Given the description of an element on the screen output the (x, y) to click on. 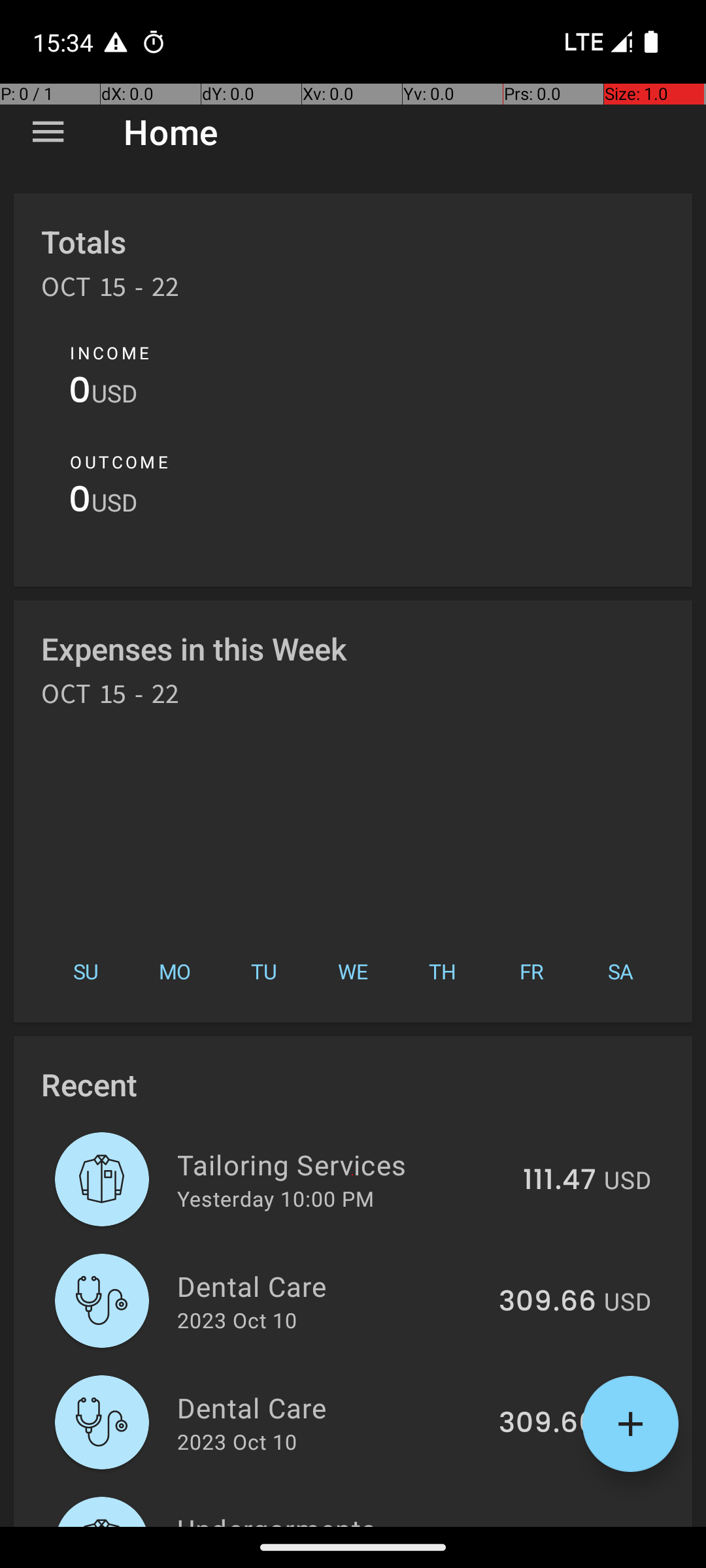
Tailoring Services Element type: android.widget.TextView (342, 1164)
Yesterday 10:00 PM Element type: android.widget.TextView (275, 1198)
111.47 Element type: android.widget.TextView (559, 1180)
Dental Care Element type: android.widget.TextView (330, 1285)
2023 Oct 10 Element type: android.widget.TextView (236, 1320)
309.66 Element type: android.widget.TextView (547, 1301)
Undergarments Element type: android.widget.TextView (335, 1518)
174.52 Element type: android.widget.TextView (552, 1524)
